Given the description of an element on the screen output the (x, y) to click on. 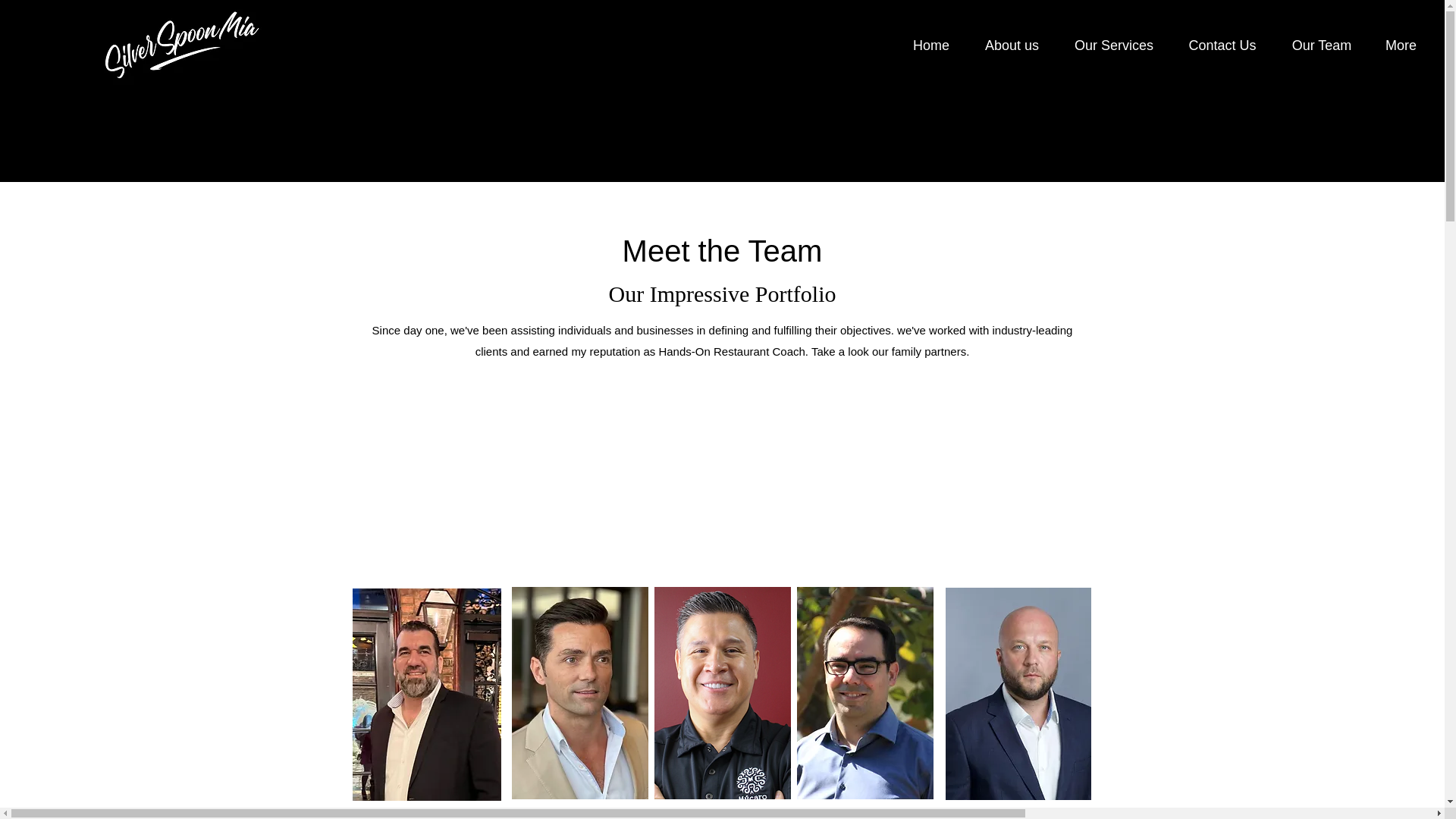
About us (1011, 45)
Our Team (1322, 45)
Contact Us (1222, 45)
Our Services (1113, 45)
Home (930, 45)
